Given the description of an element on the screen output the (x, y) to click on. 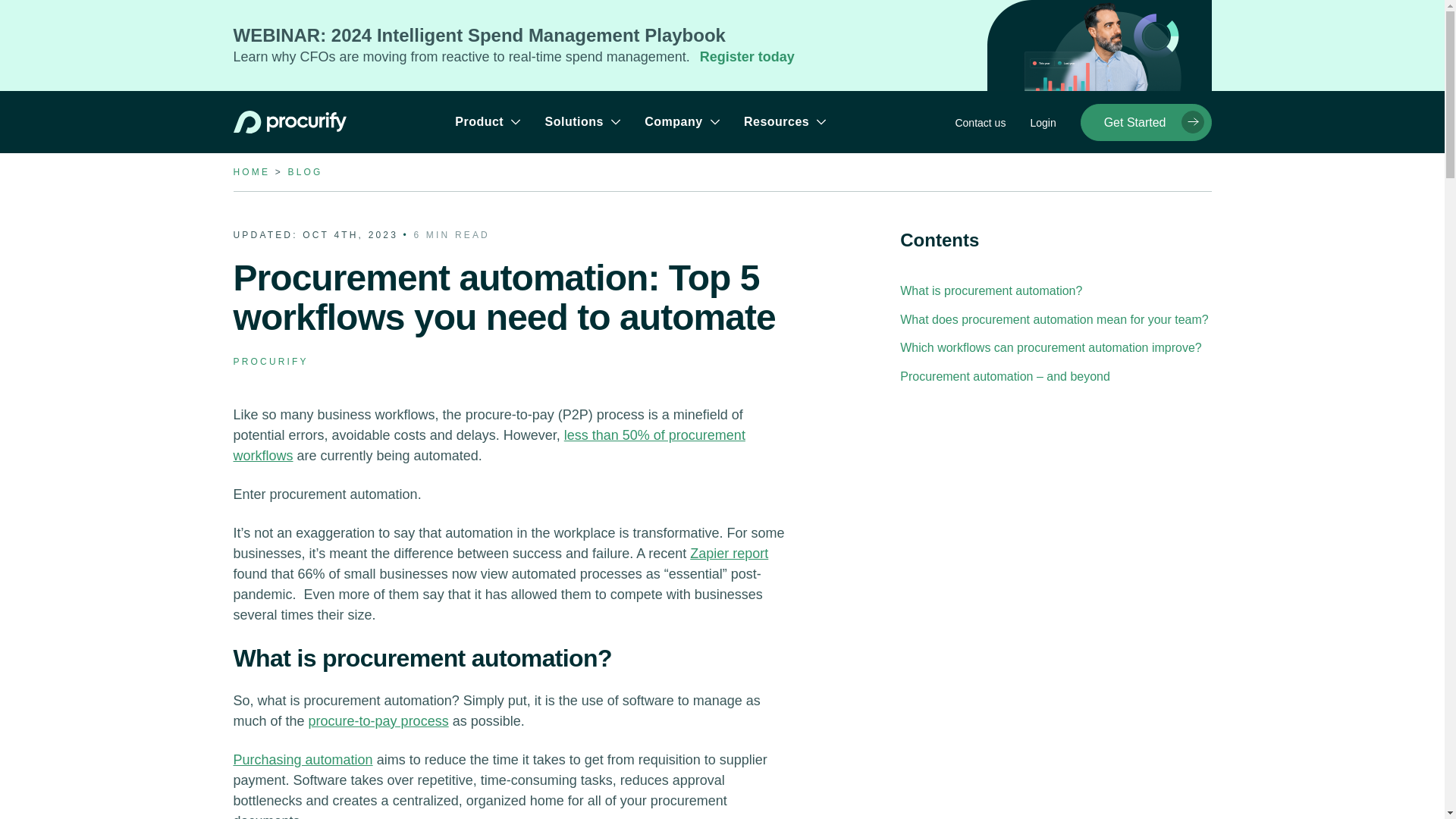
Posts by Procurify (270, 361)
Register today (747, 56)
What does procurement automation mean for your team? (1053, 318)
Procurify Logo (291, 121)
What is procurement automation? (990, 290)
